Given the description of an element on the screen output the (x, y) to click on. 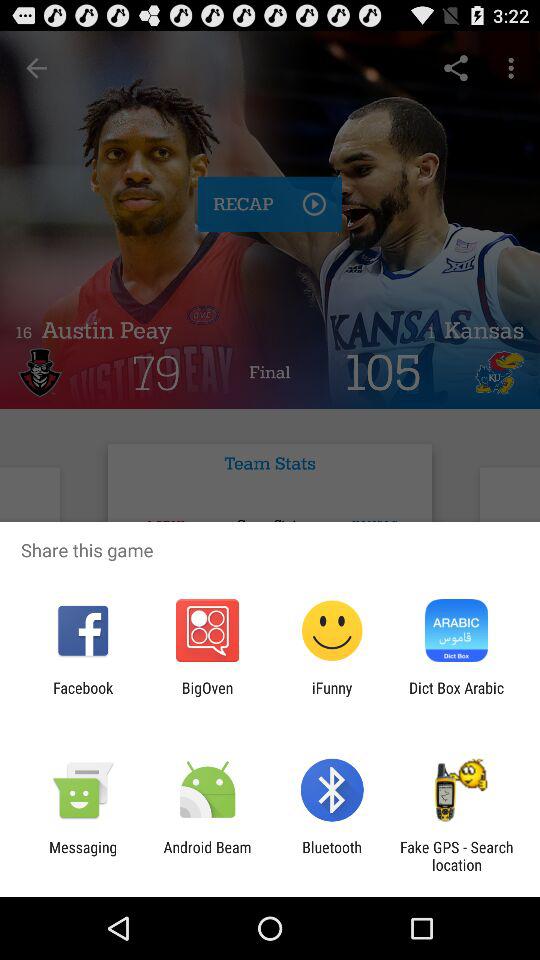
swipe until the fake gps search (456, 856)
